Given the description of an element on the screen output the (x, y) to click on. 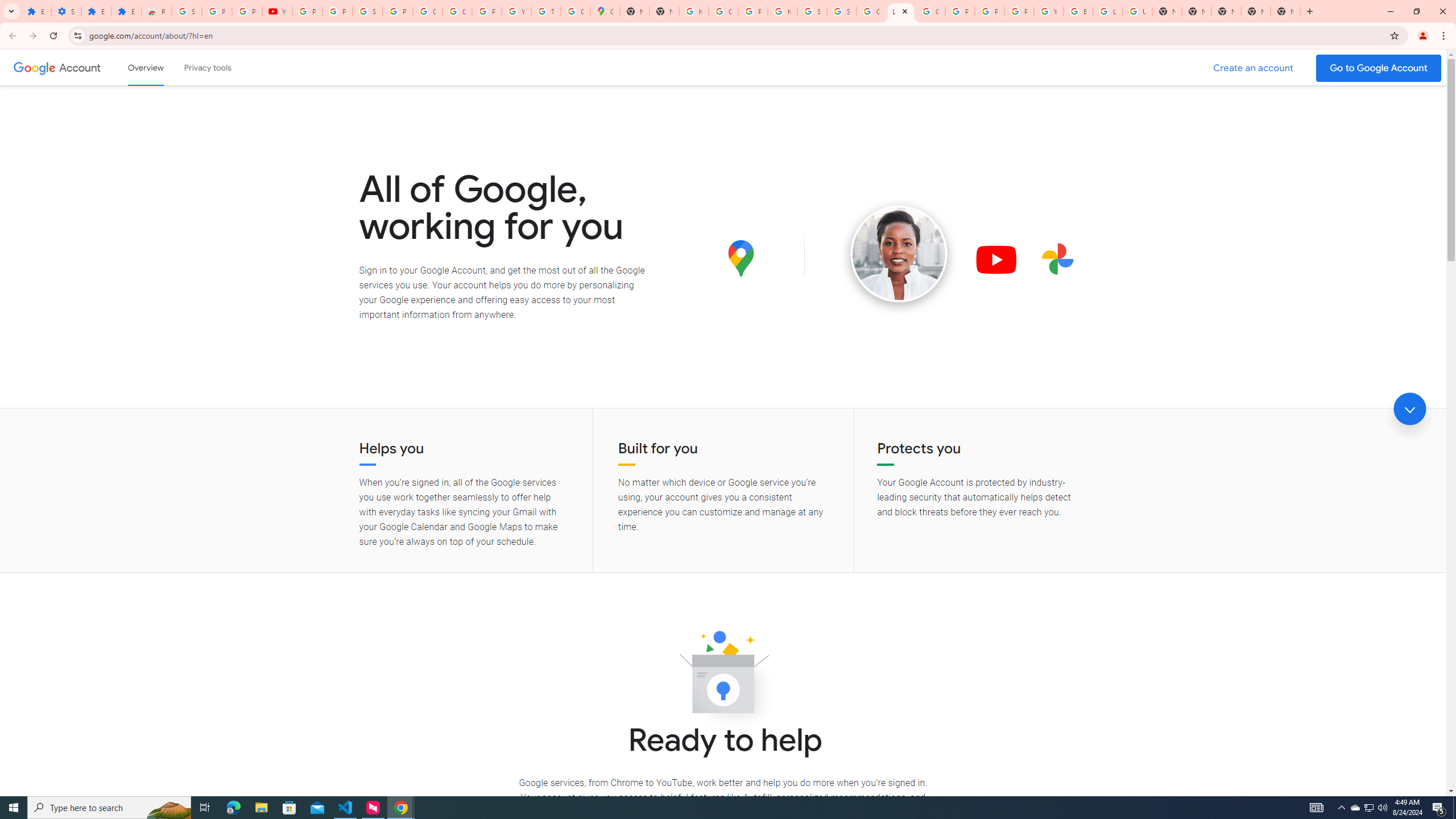
Go to your Google Account (1378, 67)
Extensions (126, 11)
Google Account (80, 67)
Extensions (36, 11)
Extensions (95, 11)
Browse Chrome as a guest - Computer - Google Chrome Help (1077, 11)
YouTube (515, 11)
Sign in - Google Accounts (367, 11)
https://scholar.google.com/ (782, 11)
